Given the description of an element on the screen output the (x, y) to click on. 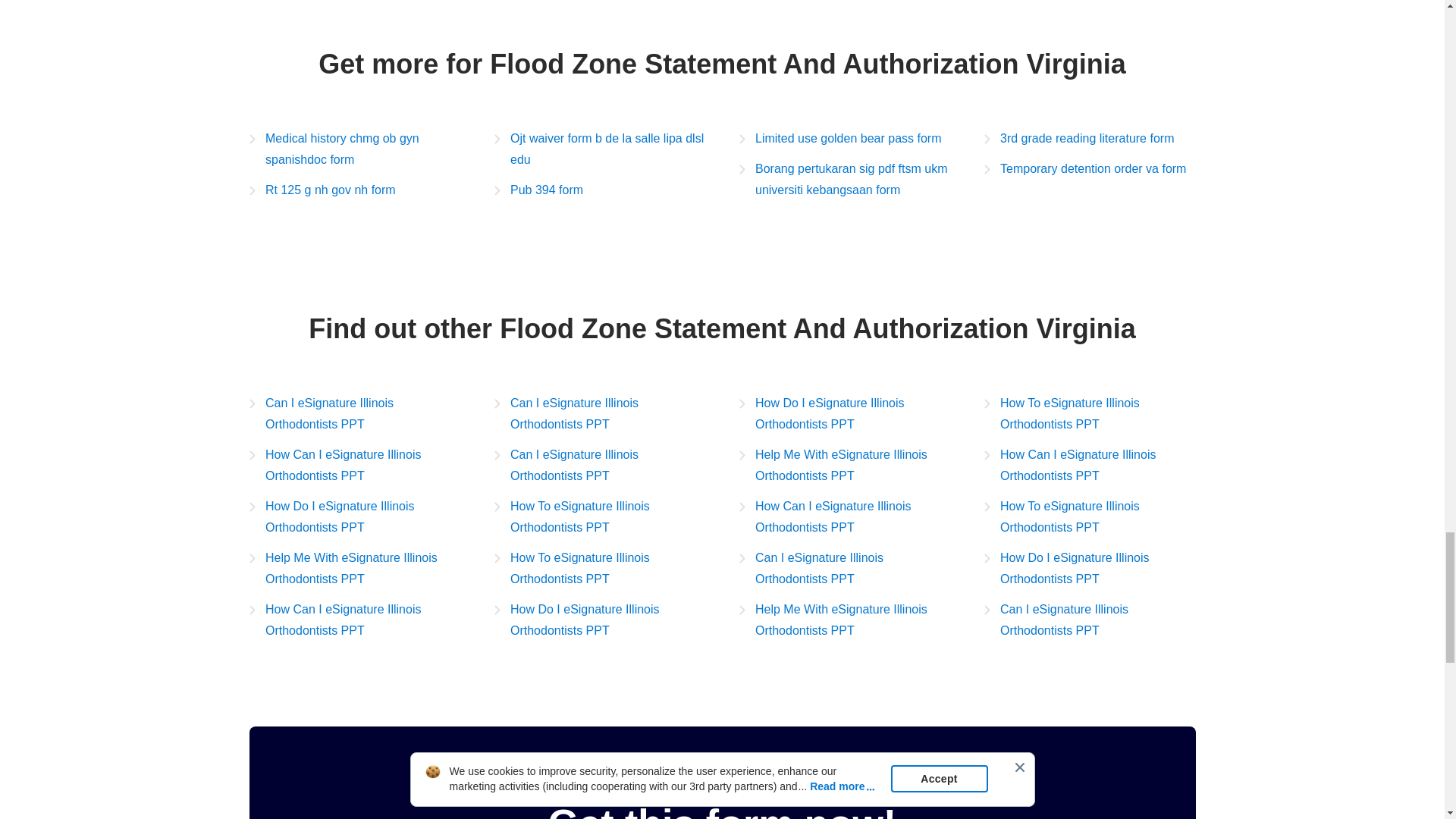
How To eSignature Illinois Orthodontists PPT (600, 568)
How Can I eSignature Illinois Orthodontists PPT (354, 619)
How Can I eSignature Illinois Orthodontists PPT (844, 517)
How Do I eSignature Illinois Orthodontists PPT (844, 413)
Help Me With eSignature Illinois Orthodontists PPT (354, 568)
How Do I eSignature Illinois Orthodontists PPT (354, 517)
Medical history chmg ob gyn spanishdoc form (354, 148)
Ojt waiver form b de la salle lipa dlsl edu (600, 148)
Can I eSignature Illinois Orthodontists PPT (600, 413)
Can I eSignature Illinois Orthodontists PPT (354, 413)
How To eSignature Illinois Orthodontists PPT (1089, 517)
Help Me With eSignature Illinois Orthodontists PPT (844, 465)
Limited use golden bear pass form (839, 138)
How Do I eSignature Illinois Orthodontists PPT (600, 619)
Can I eSignature Illinois Orthodontists PPT (1089, 619)
